Given the description of an element on the screen output the (x, y) to click on. 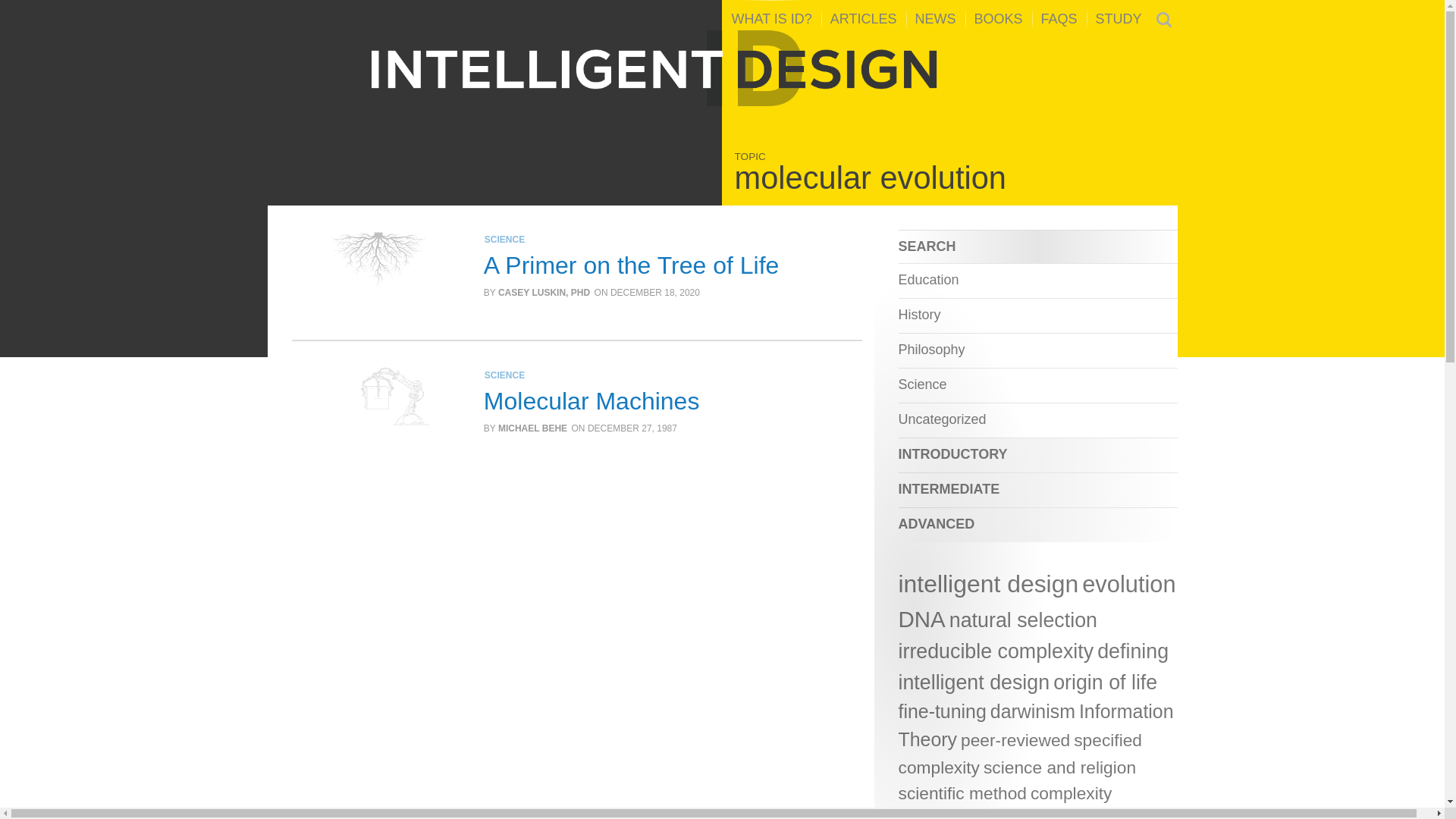
WHAT IS ID? (771, 18)
NEWS (935, 18)
ARTICLES (863, 18)
A Primer on the Tree of Life (630, 265)
FAQS (1059, 18)
Molecular Machines (591, 400)
INTELLIGENT DESIGN (722, 68)
SCIENCE (504, 239)
Permanent Link to Molecular Machines (591, 400)
STUDY (1118, 18)
Permanent Link to A Primer on the Tree of Life (630, 265)
SCIENCE (504, 375)
BOOKS (998, 18)
